Given the description of an element on the screen output the (x, y) to click on. 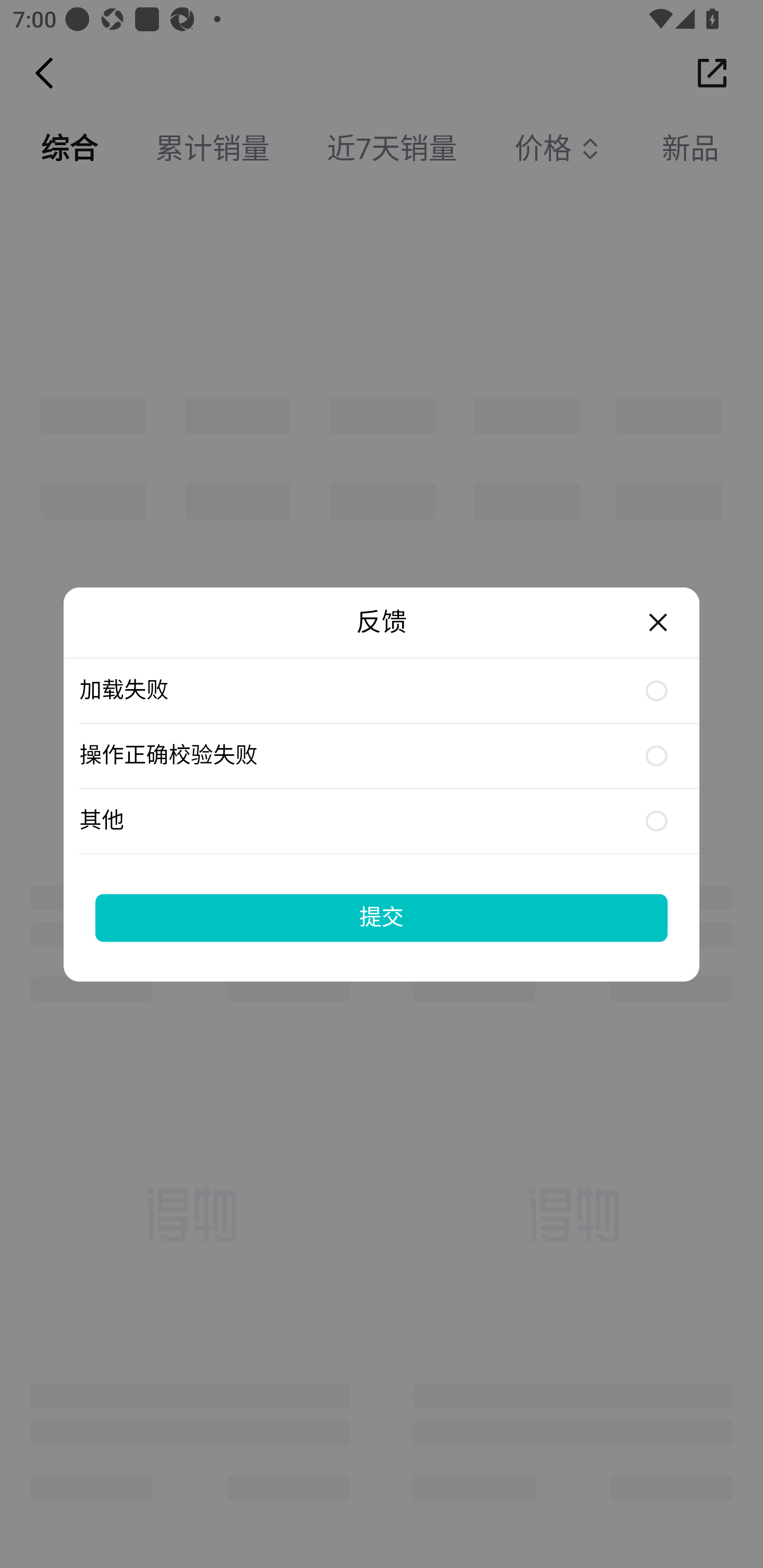
提交 (381, 917)
